Given the description of an element on the screen output the (x, y) to click on. 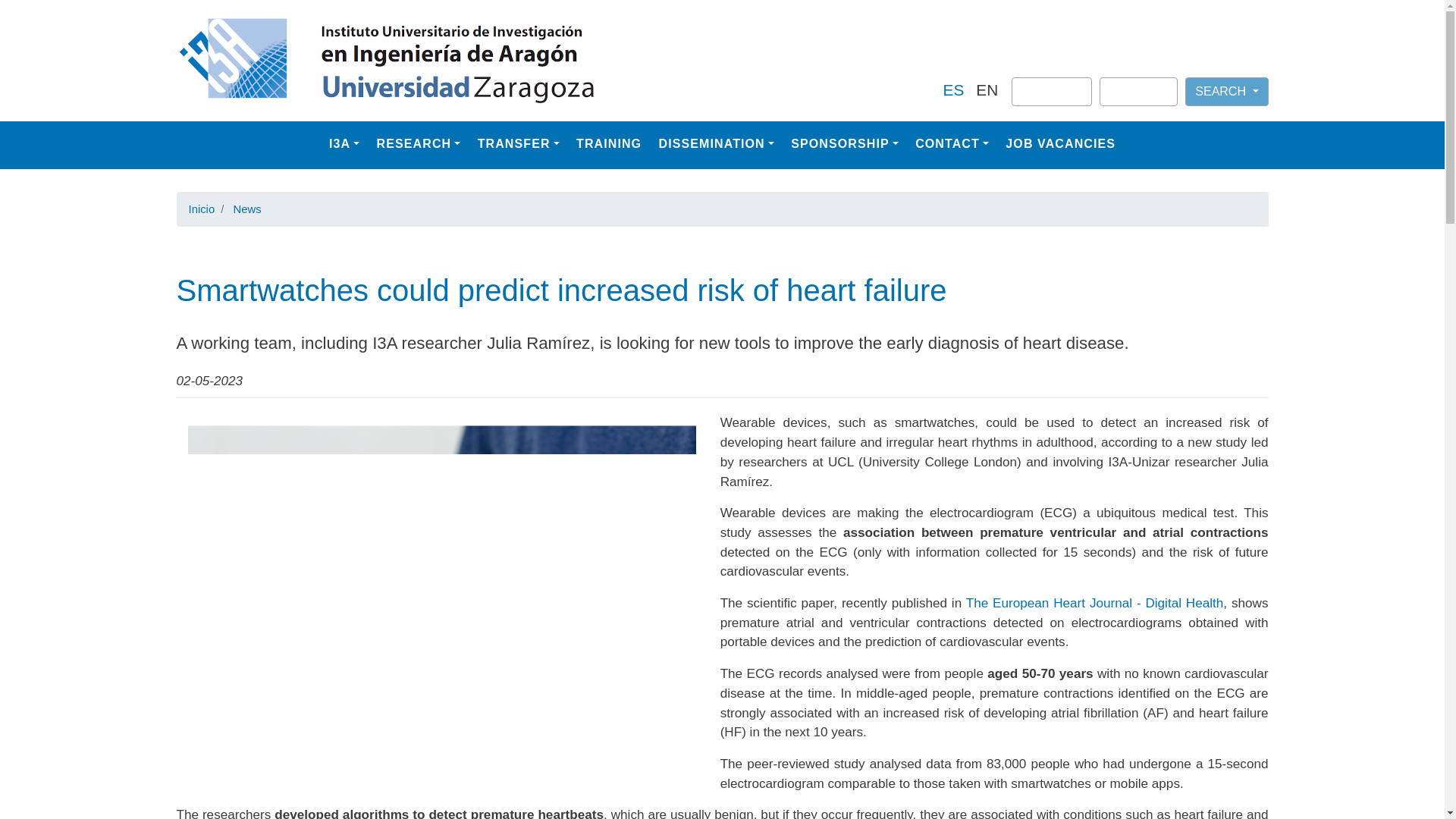
INTRANET (1051, 91)
TRAINING (608, 143)
ES (953, 89)
Skip to main content (721, 1)
Home (550, 60)
INTRANET (1048, 97)
DISSEMINATION (716, 143)
RESEARCH (418, 143)
EN (986, 89)
SUPPORT (1138, 91)
